Given the description of an element on the screen output the (x, y) to click on. 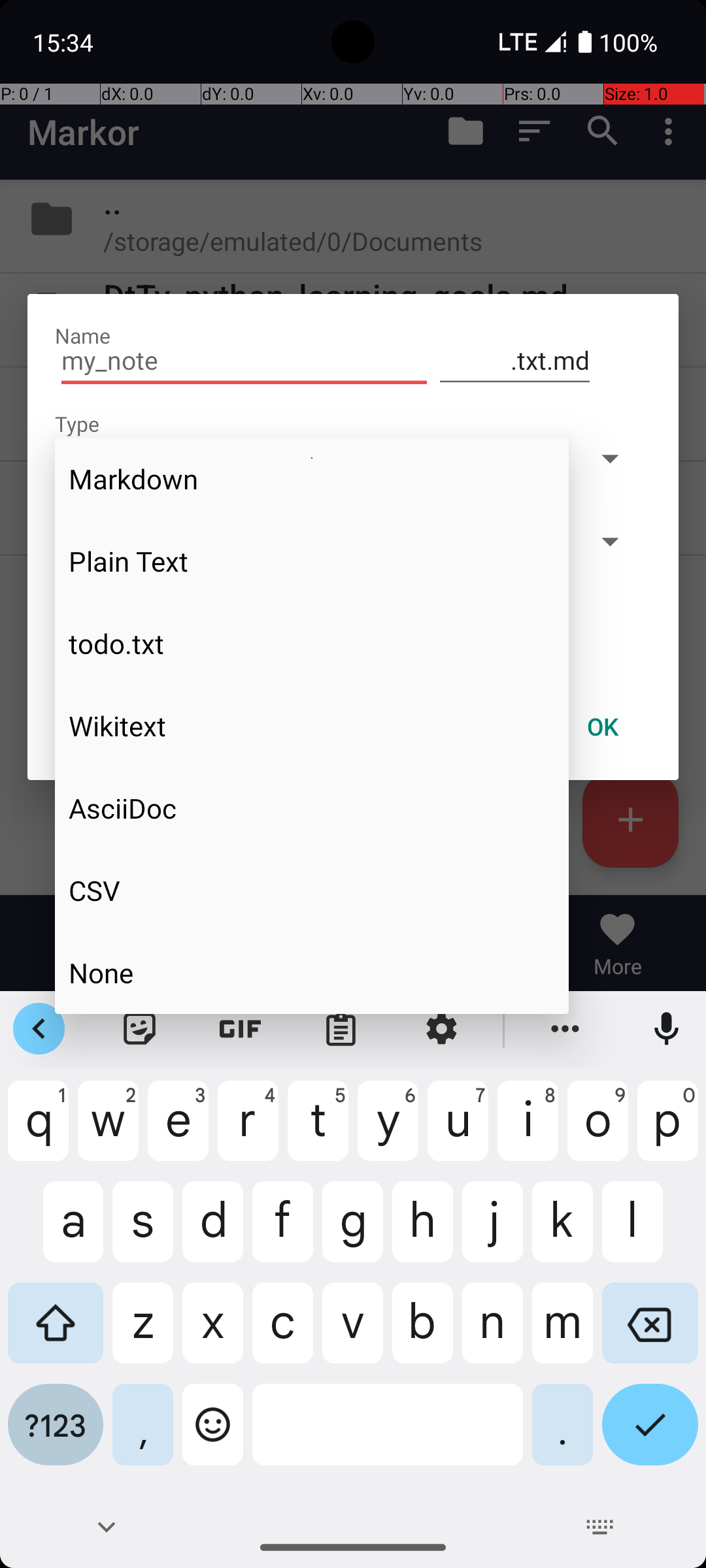
CSV Element type: android.widget.TextView (311, 890)
